Given the description of an element on the screen output the (x, y) to click on. 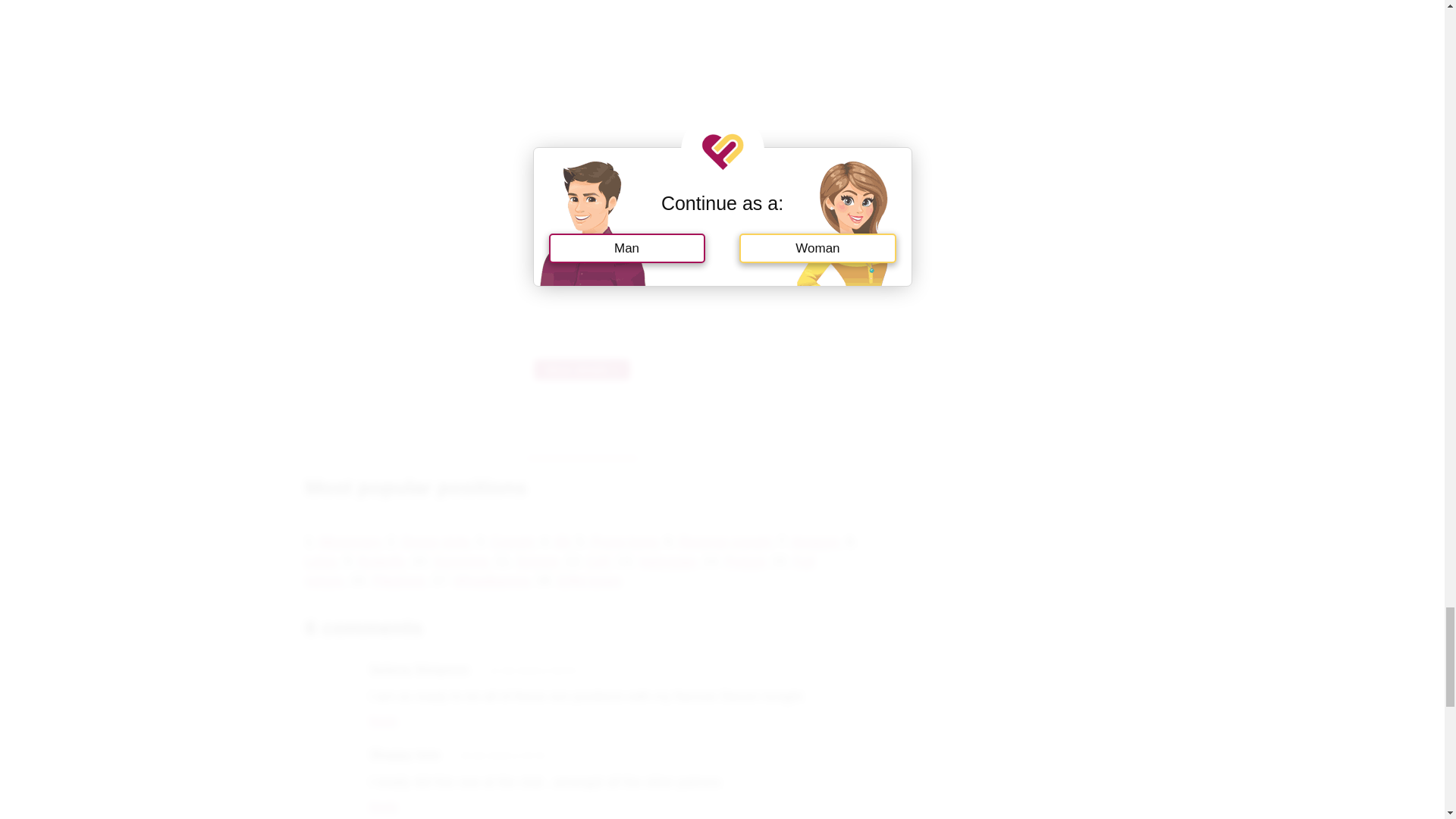
305. Bent cowgirl (581, 369)
